Given the description of an element on the screen output the (x, y) to click on. 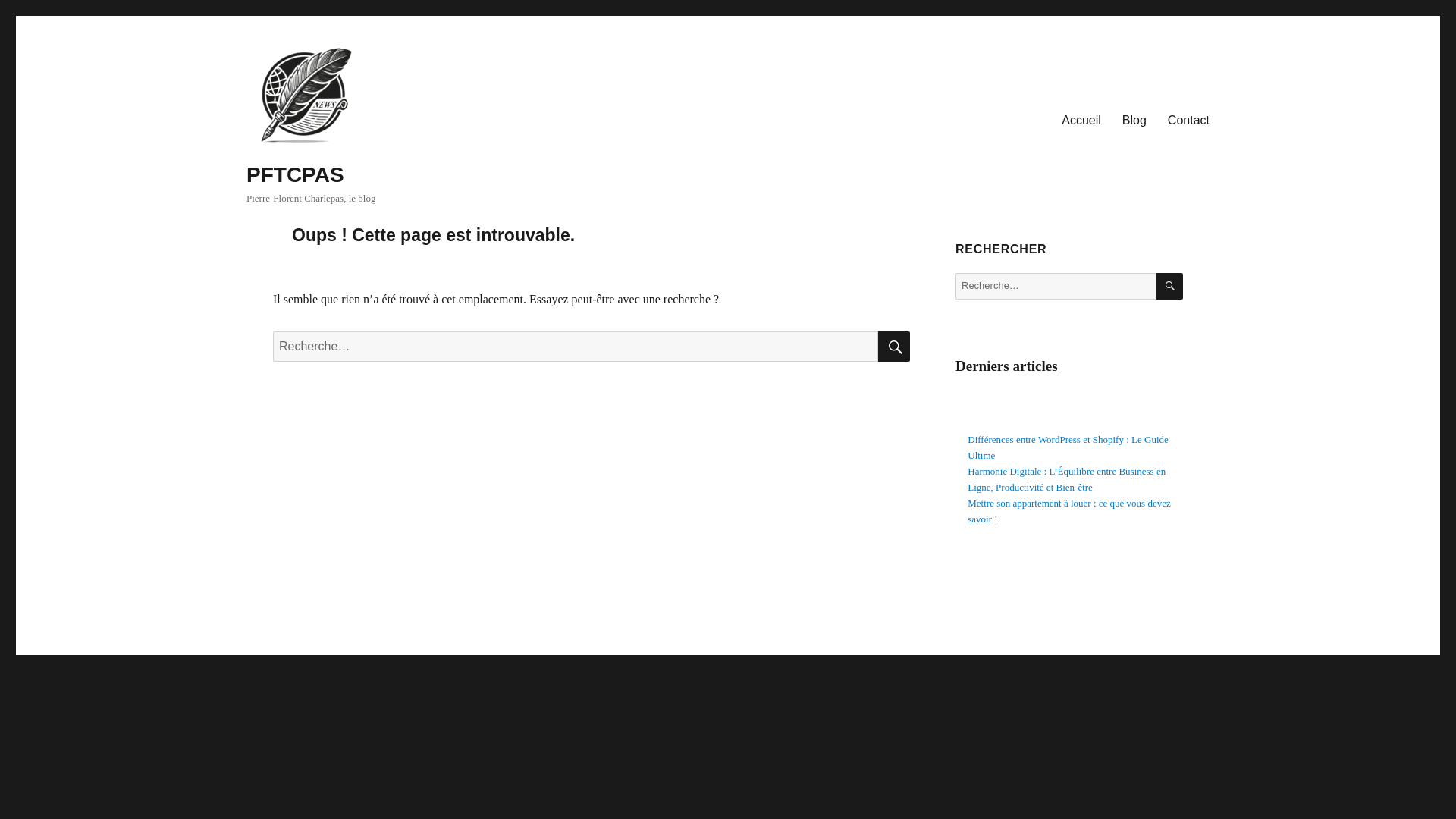
RECHERCHE (893, 346)
PFTCPAS (294, 174)
Accueil (1081, 120)
Blog (1134, 120)
Contact (1188, 120)
RECHERCHE (1169, 285)
